Given the description of an element on the screen output the (x, y) to click on. 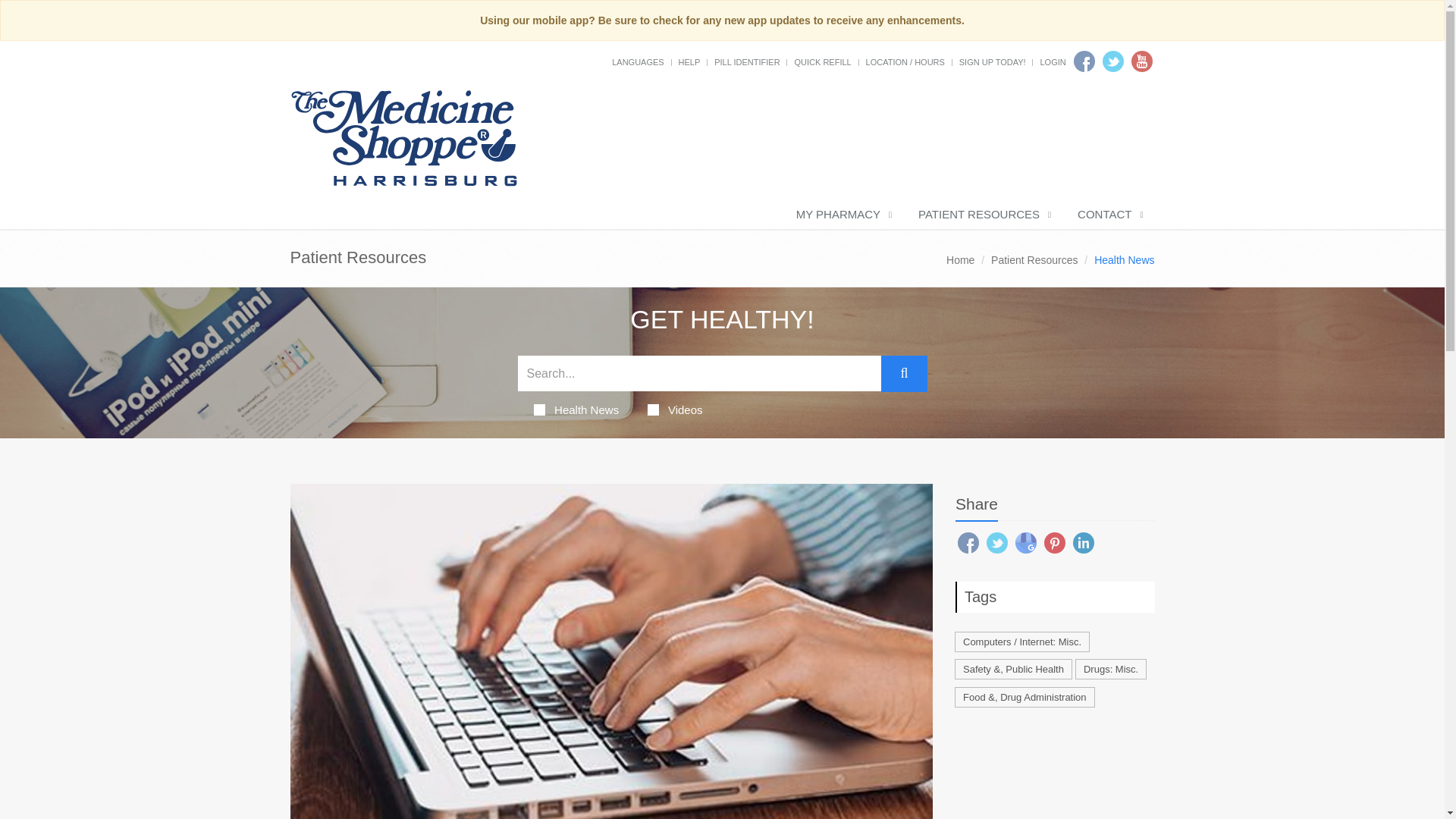
MY PHARMACY (841, 214)
LOGIN (1052, 61)
SIGN UP TODAY! (992, 61)
Home (960, 259)
QUICK REFILL (821, 61)
Patient Resources (1034, 259)
PATIENT RESOURCES (982, 214)
CONTACT (1108, 214)
LANGUAGES (637, 61)
HELP (689, 61)
PILL IDENTIFIER (746, 61)
